Given the description of an element on the screen output the (x, y) to click on. 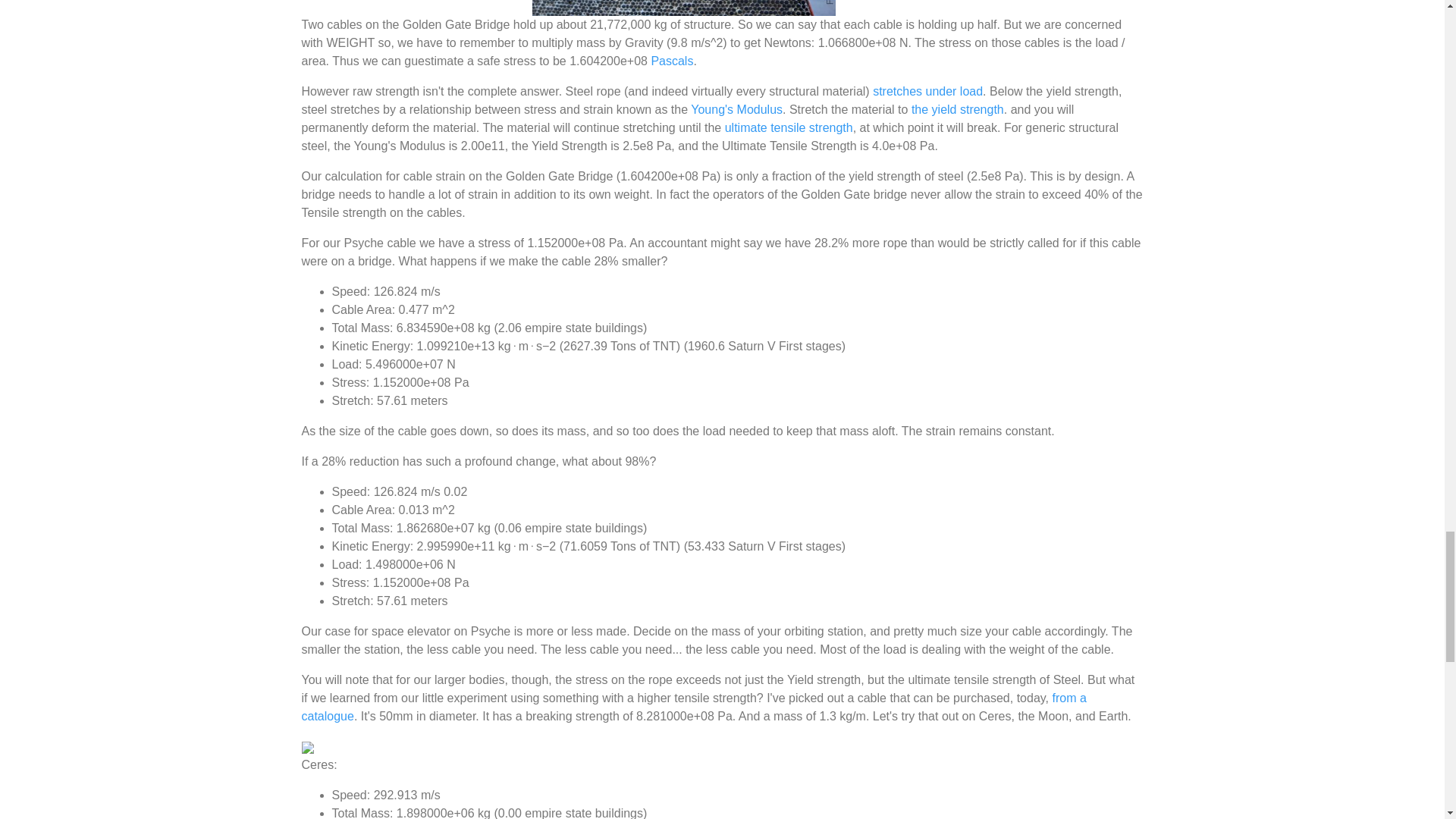
Pascals (671, 60)
ultimate tensile strength (789, 127)
from a catalogue (693, 706)
Young's Modulus (736, 109)
the yield strength (957, 109)
stretches under load (927, 91)
